Given the description of an element on the screen output the (x, y) to click on. 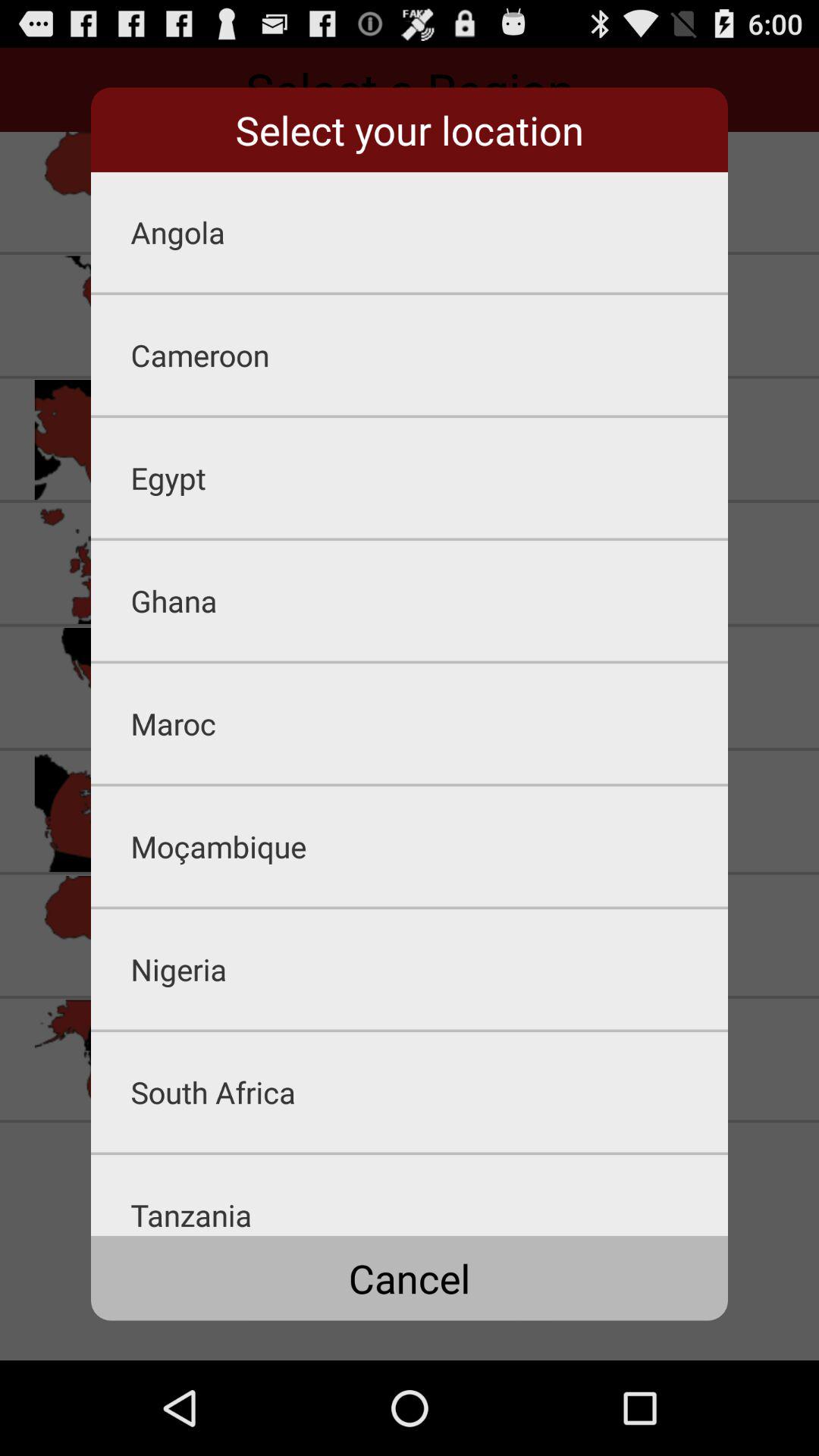
flip until the angola icon (429, 232)
